Given the description of an element on the screen output the (x, y) to click on. 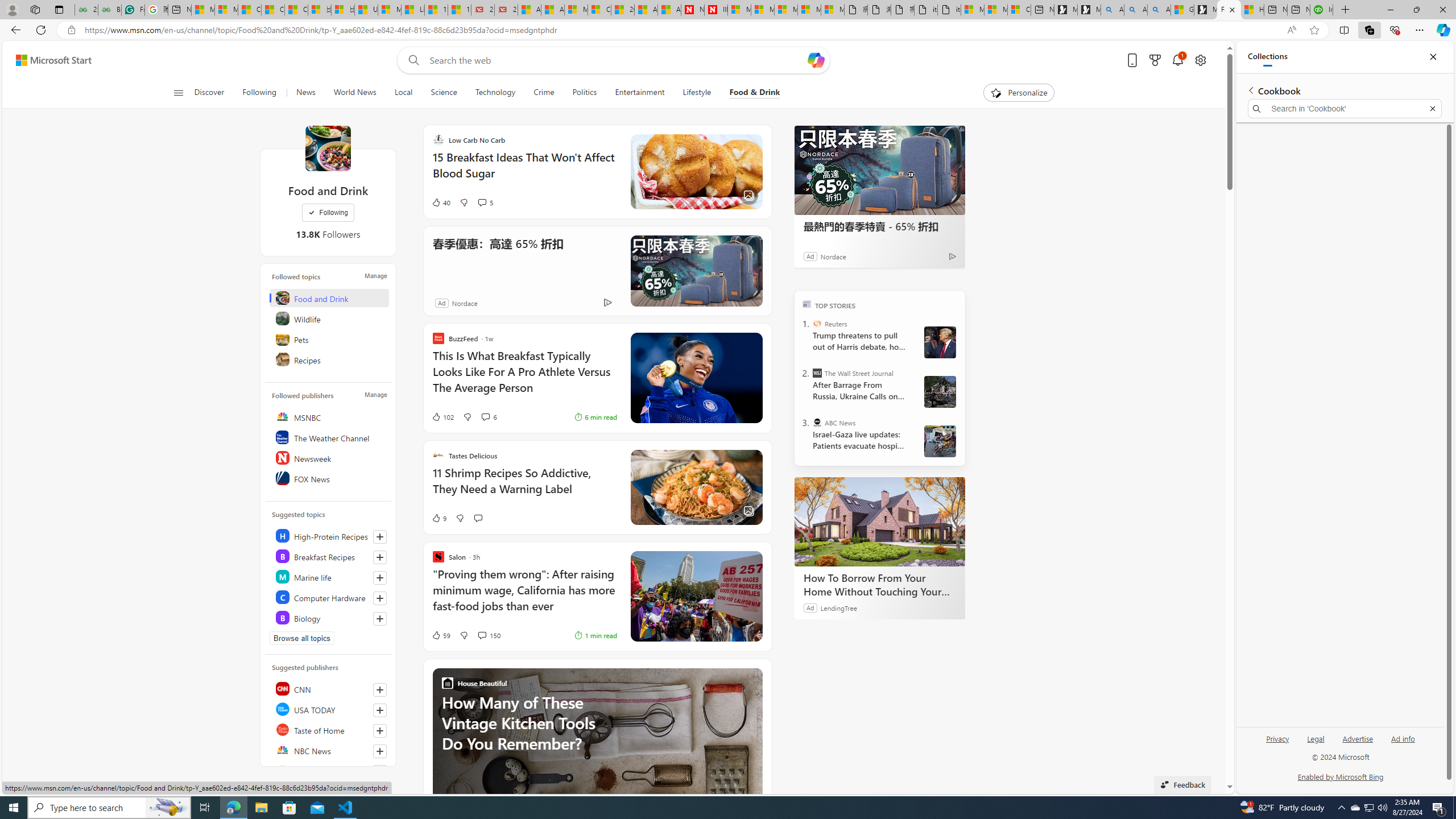
Reuters (816, 323)
Browse all topics (301, 638)
The Weather Channel (328, 437)
View comments 6 Comment (489, 416)
Newsweek (328, 457)
